Given the description of an element on the screen output the (x, y) to click on. 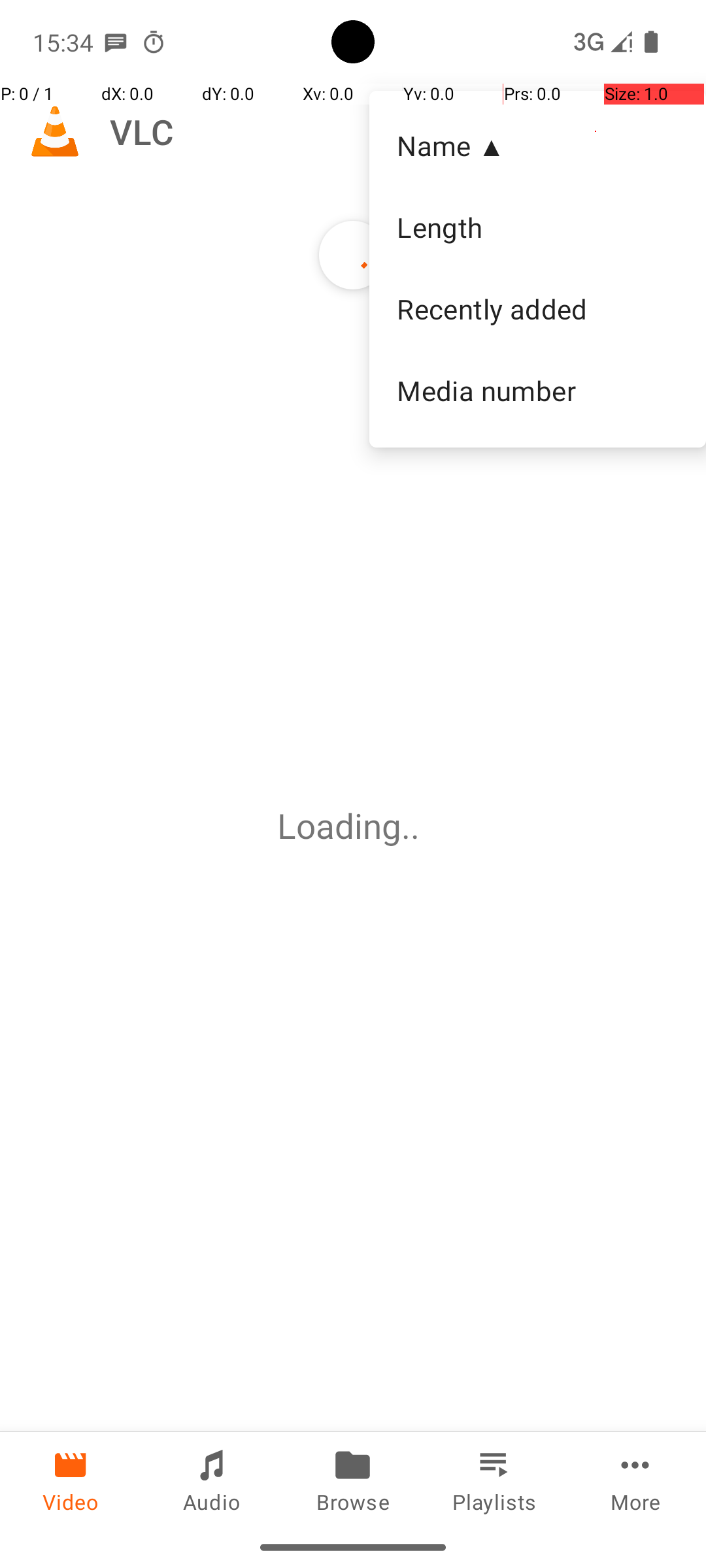
Name. Ascending Element type: android.widget.LinearLayout (537, 145)
Length Element type: android.widget.LinearLayout (537, 227)
Recently added Element type: android.widget.LinearLayout (537, 308)
Name ▲ Element type: android.widget.TextView (537, 145)
Media number Element type: android.widget.TextView (537, 389)
